Given the description of an element on the screen output the (x, y) to click on. 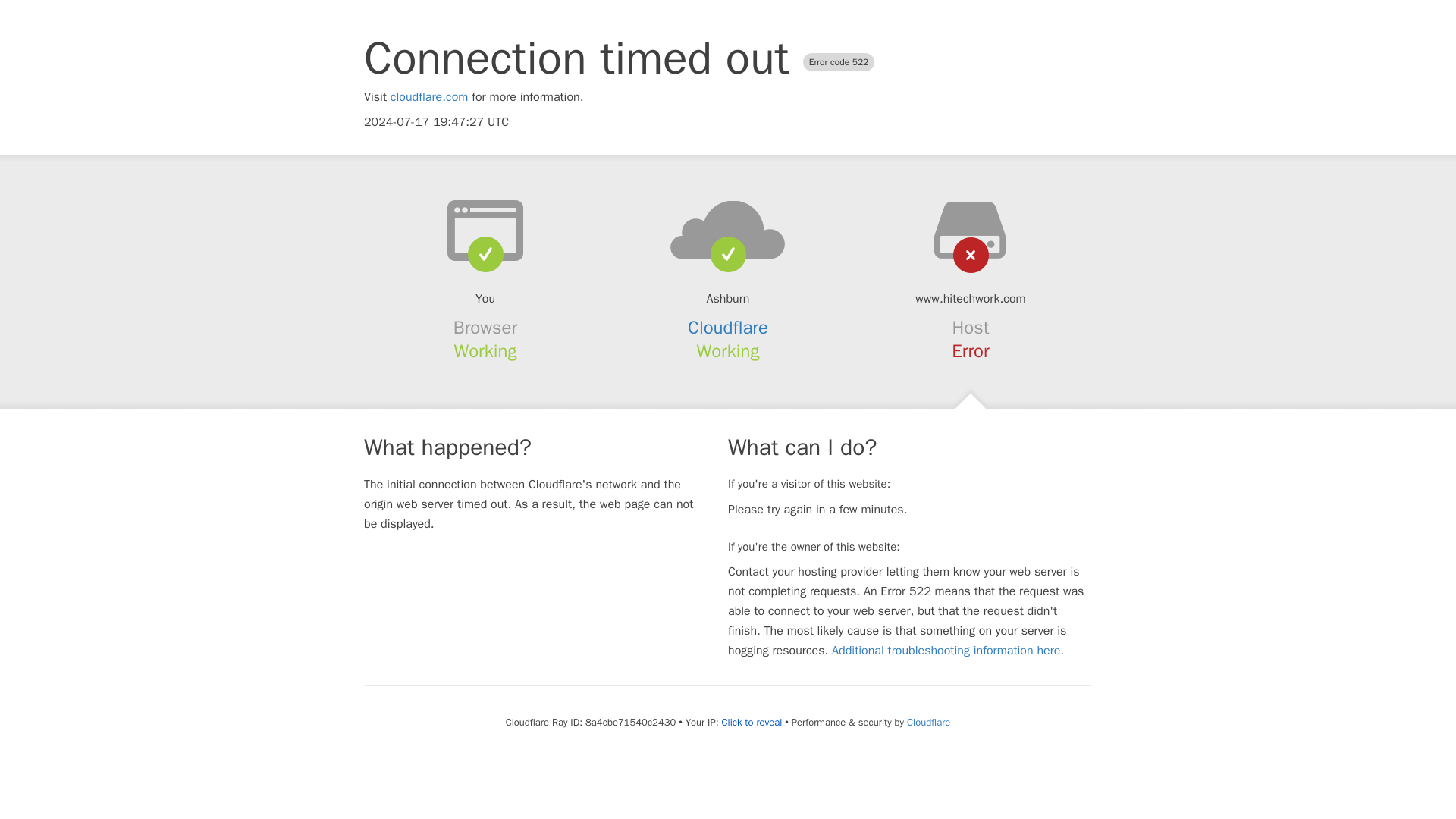
Click to reveal (750, 722)
Additional troubleshooting information here. (947, 650)
Cloudflare (727, 327)
cloudflare.com (429, 96)
Cloudflare (928, 721)
